Given the description of an element on the screen output the (x, y) to click on. 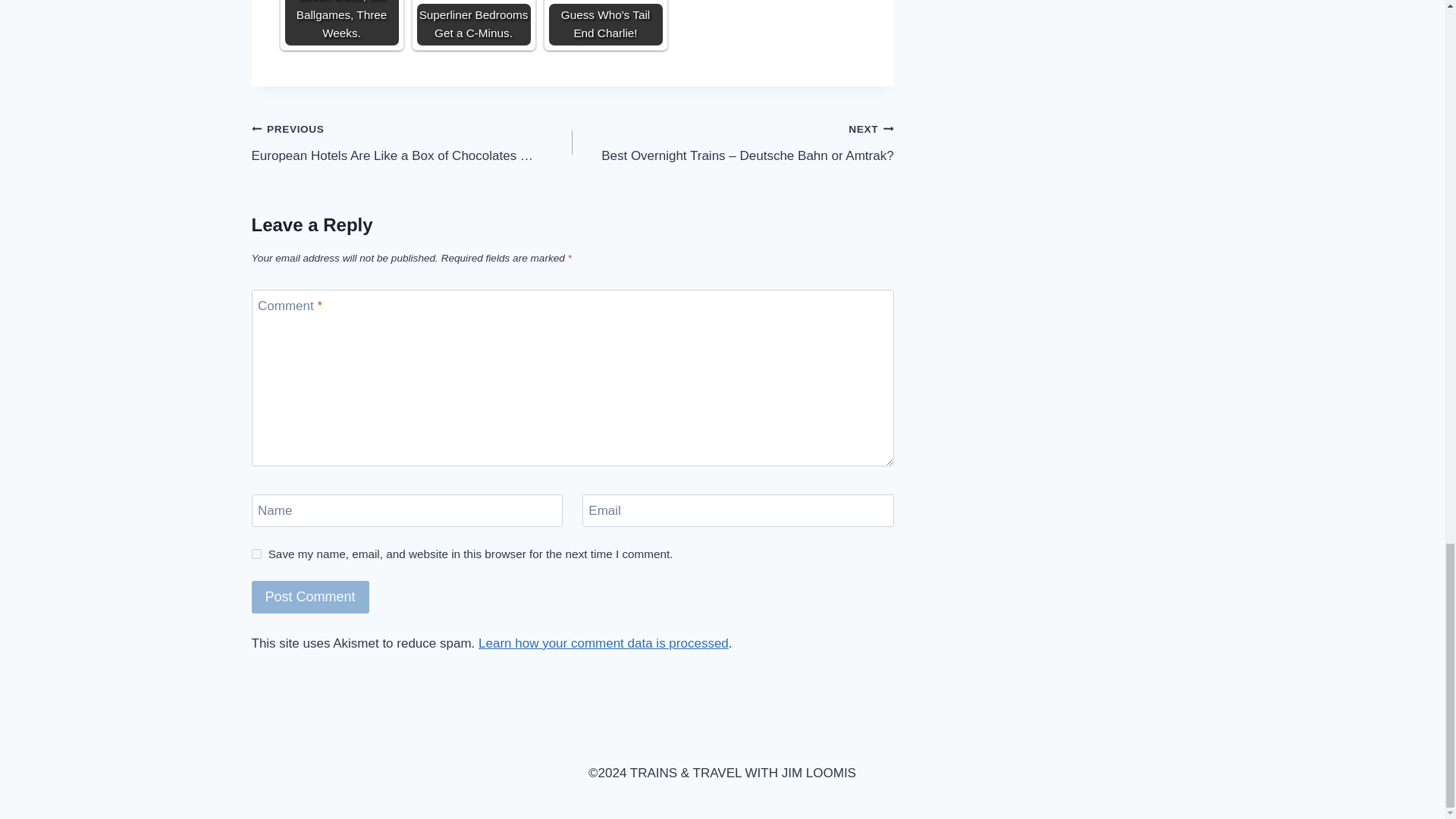
Post Comment (310, 596)
Guess Who's Tail End Charlie! (605, 22)
Seven Cities,  Six Ballgames, Three Weeks. (341, 22)
Superliner Bedrooms Get a C-Minus. (473, 15)
yes (256, 553)
Superliner Bedrooms Get a C-Minus. (473, 22)
Guess Who's Tail End Charlie! (605, 22)
Seven Cities, Six Ballgames, Three Weeks. (341, 22)
